Given the description of an element on the screen output the (x, y) to click on. 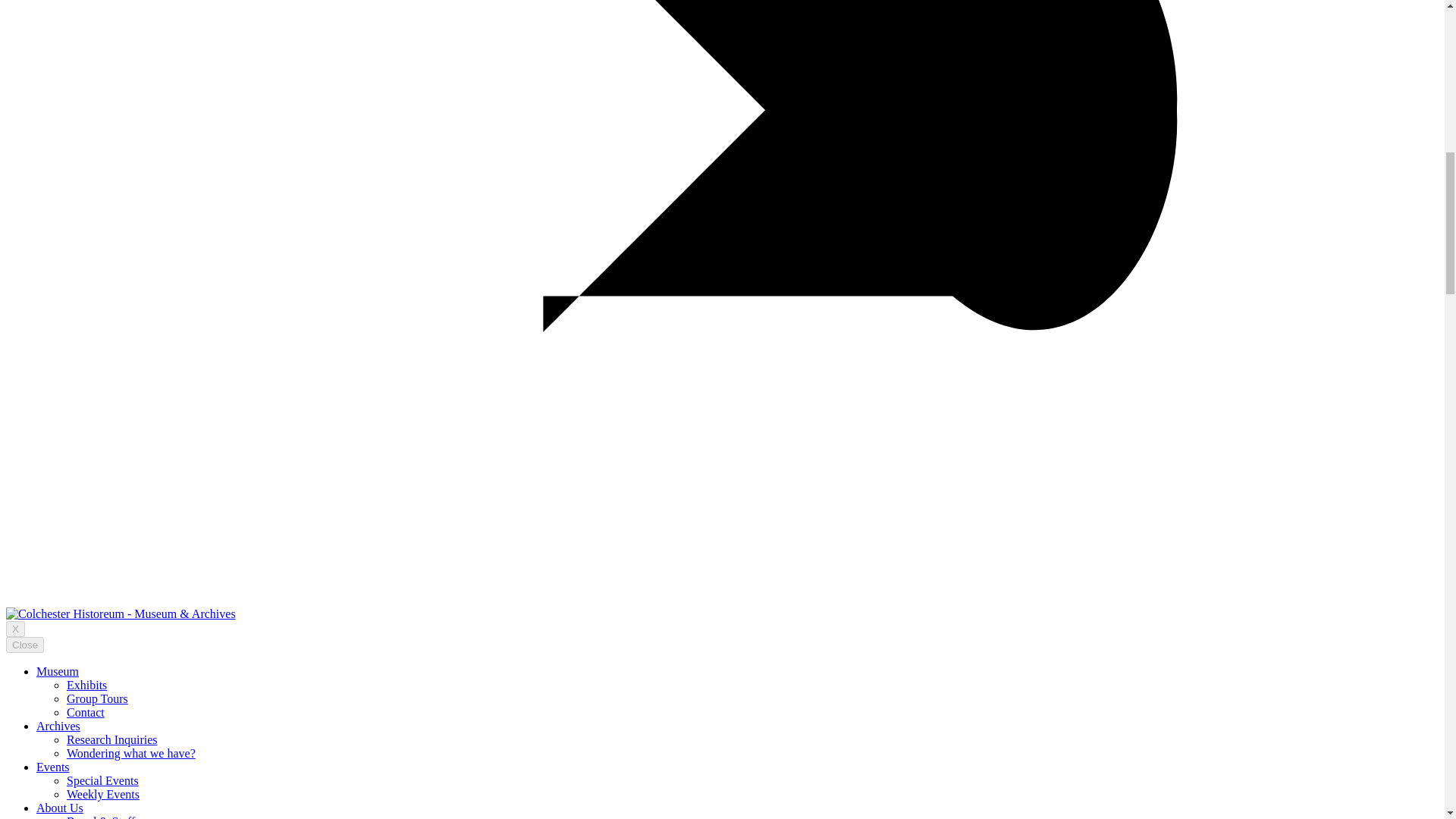
Wondering what we have? (130, 753)
Contact (85, 712)
Events (52, 766)
Group Tours (97, 698)
Close (24, 644)
Exhibits (86, 684)
About Us (59, 807)
Special Events (102, 780)
Museum (57, 671)
Special Events (102, 780)
